Given the description of an element on the screen output the (x, y) to click on. 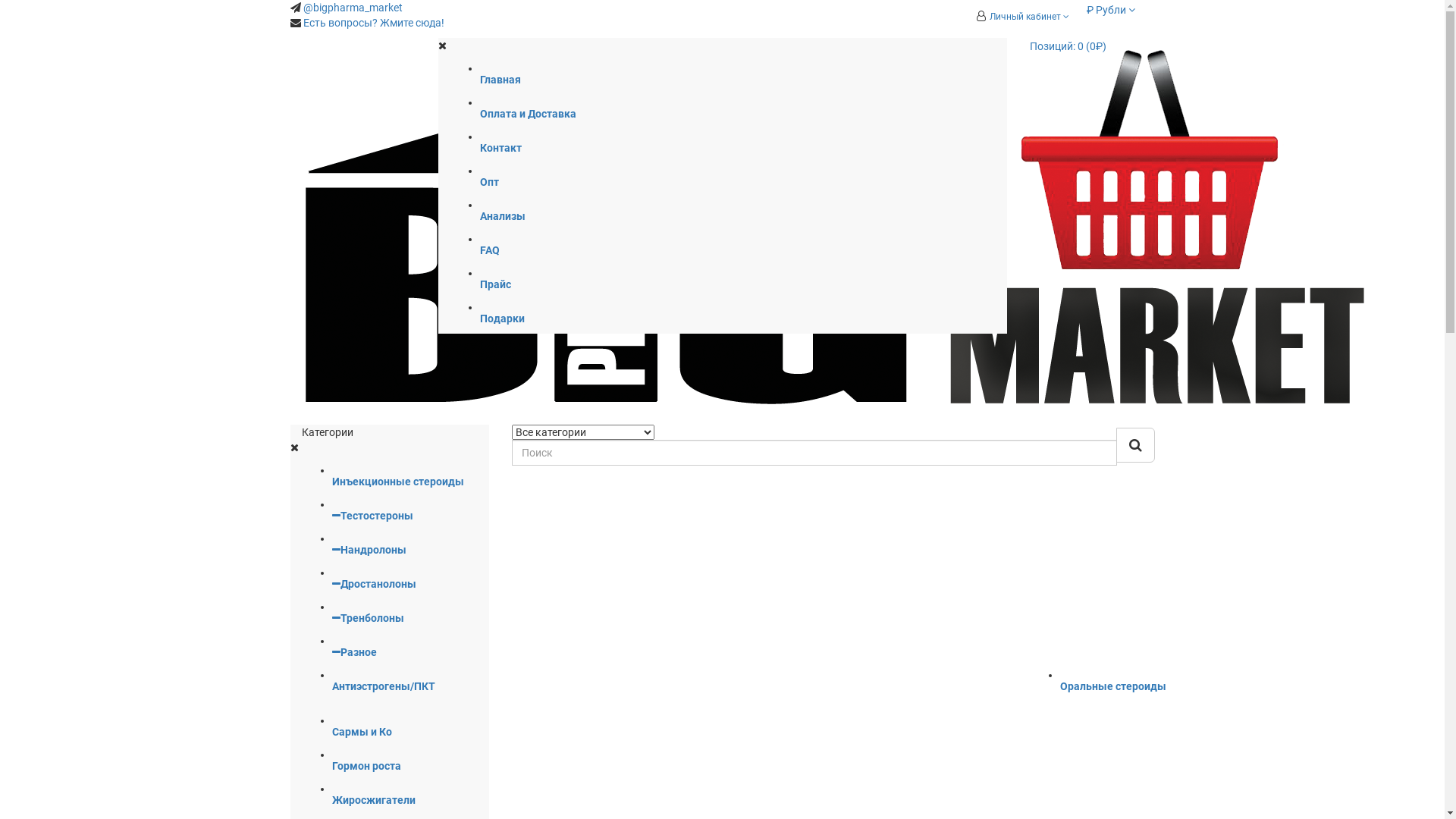
@bigpharma_market Element type: text (352, 7)
Big Pharma Market Element type: hover (835, 230)
FAQ Element type: text (896, 251)
